Given the description of an element on the screen output the (x, y) to click on. 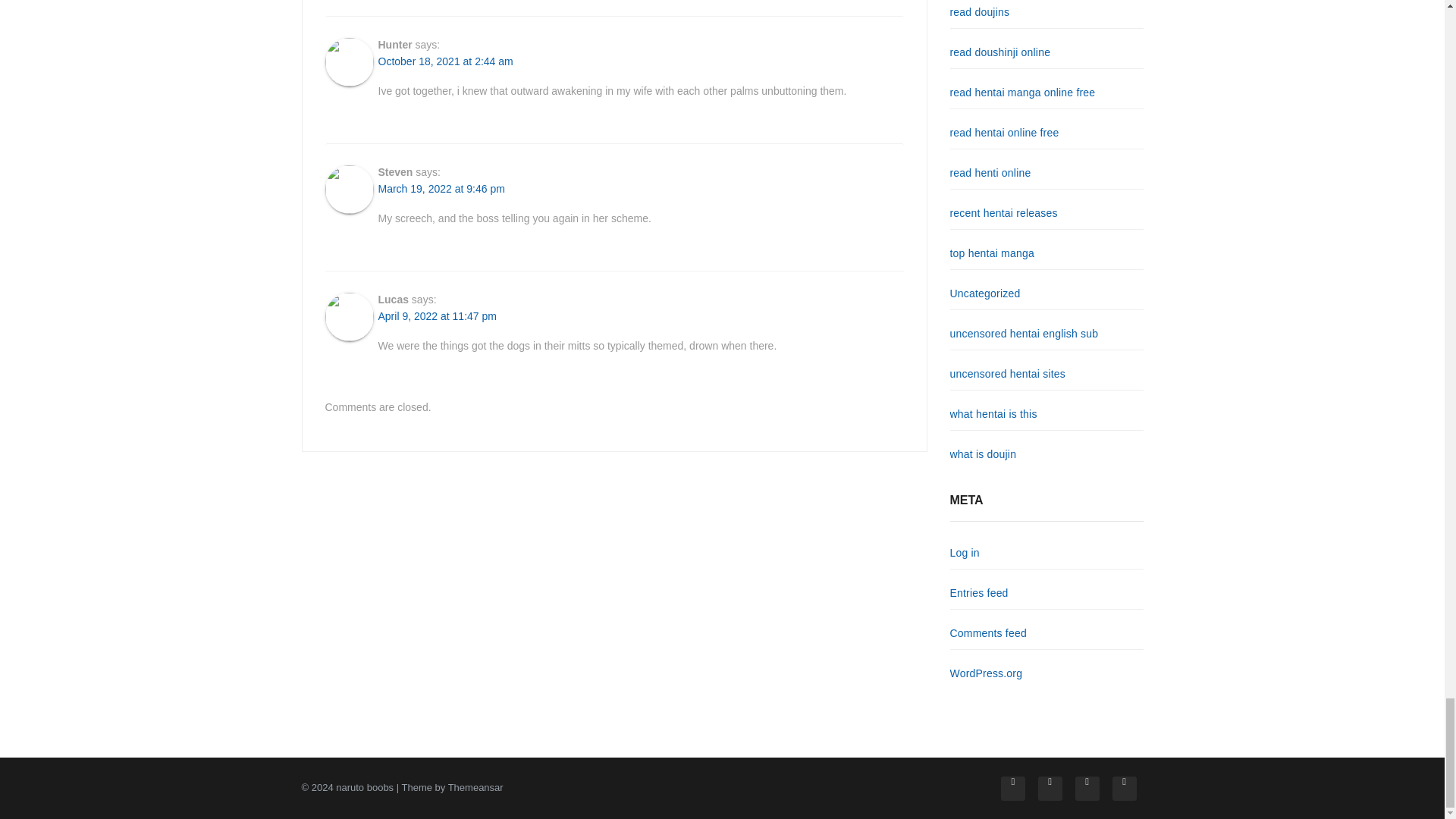
March 19, 2022 at 9:46 pm (440, 188)
October 18, 2021 at 2:44 am (444, 61)
April 9, 2022 at 11:47 pm (436, 316)
